Given the description of an element on the screen output the (x, y) to click on. 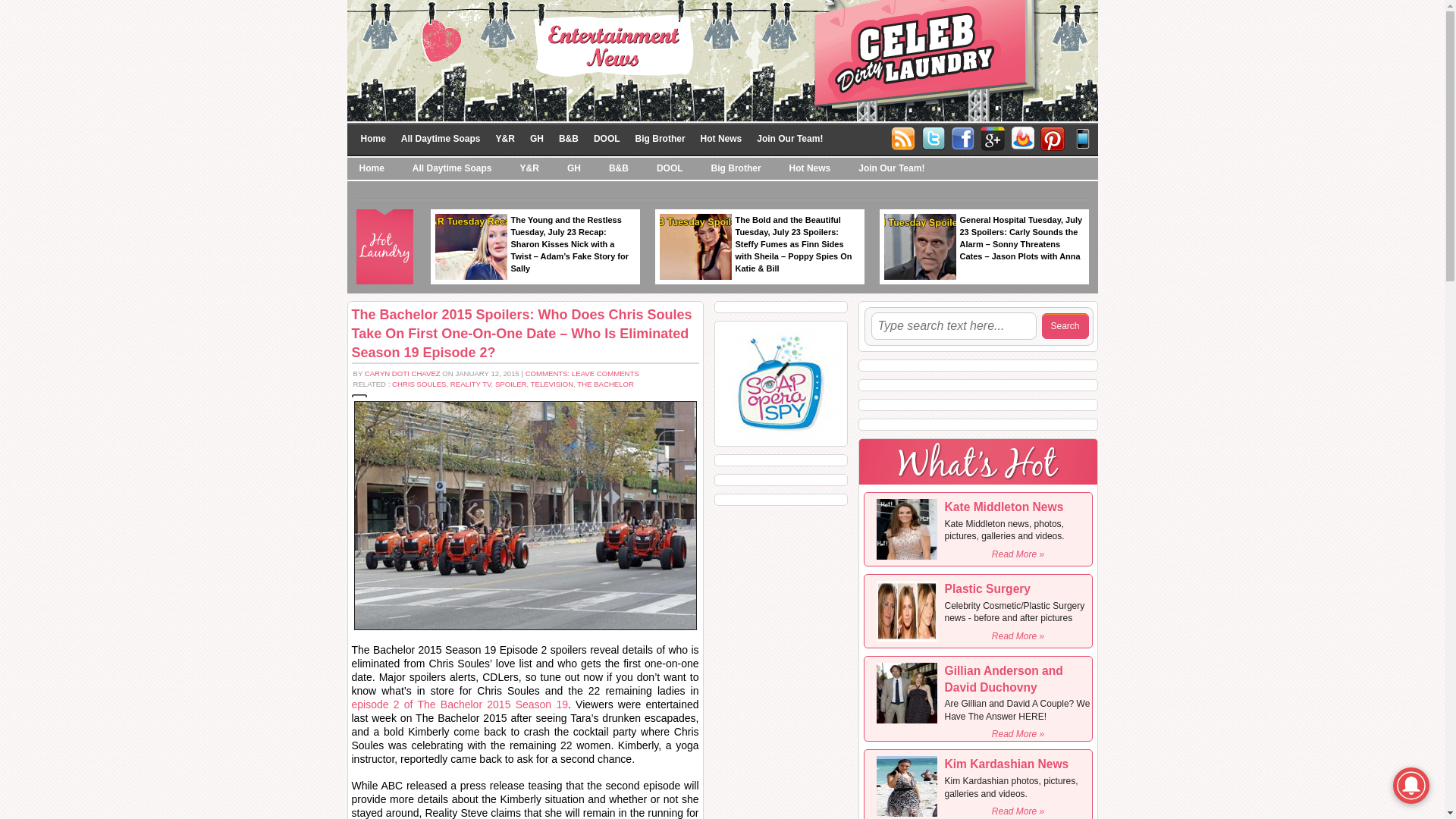
Join Our Team! (789, 138)
All Daytime Soaps (440, 138)
Share us with Twitter (932, 138)
Share us on google (991, 138)
All Daytime Soaps (452, 168)
Hot News (810, 168)
Home (373, 138)
DOOL (607, 138)
Pinterest (1052, 136)
CARYN DOTI CHAVEZ (403, 373)
Share us on Facebook (962, 138)
Home (371, 168)
Join Our Team! (891, 168)
Subscribe to our feed (1022, 138)
GH (573, 168)
